Given the description of an element on the screen output the (x, y) to click on. 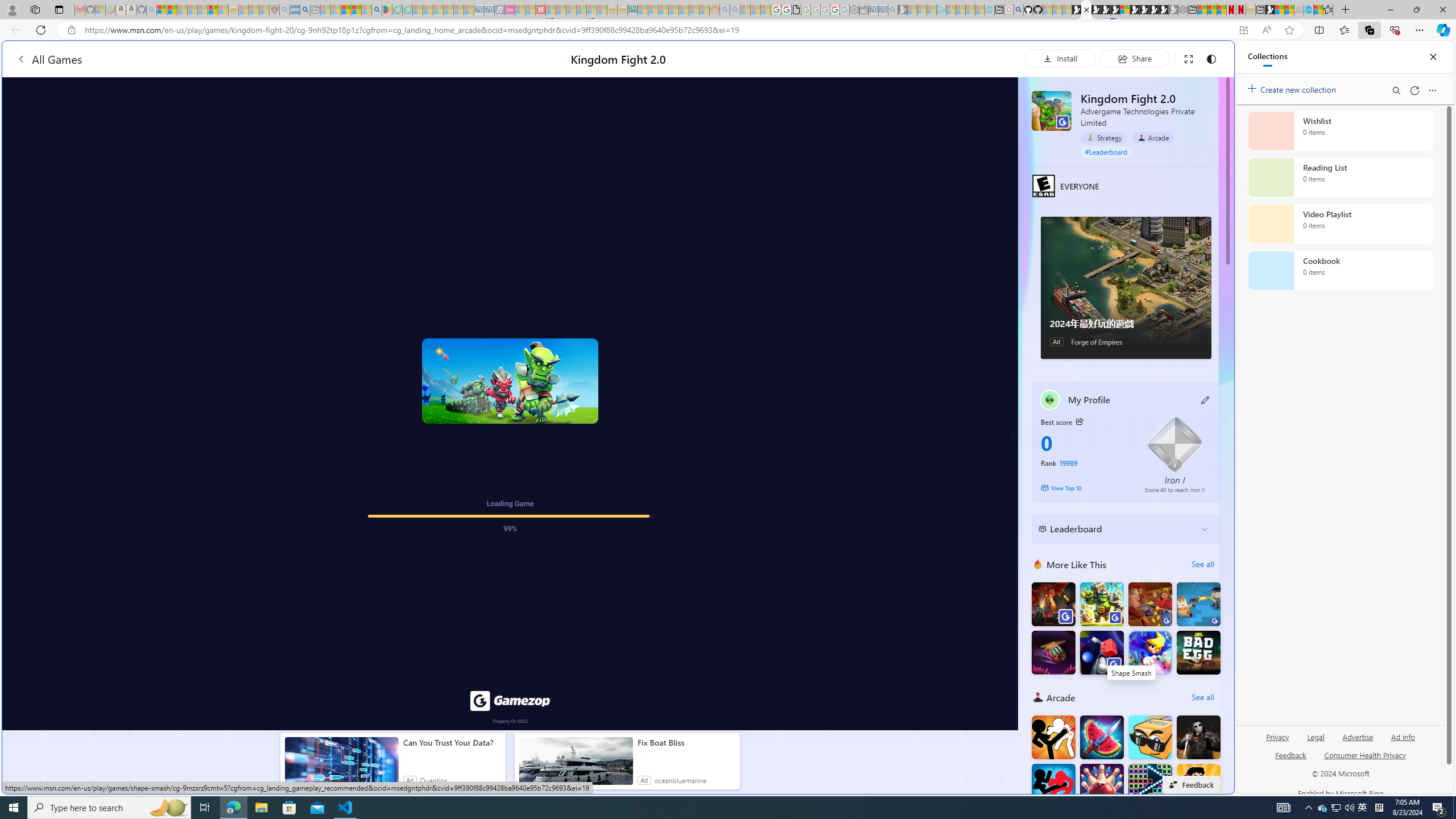
Bricks Breaker Deluxe Crusher (1149, 785)
Fruit Chopper (1101, 737)
EVERYONE (1043, 185)
